Given the description of an element on the screen output the (x, y) to click on. 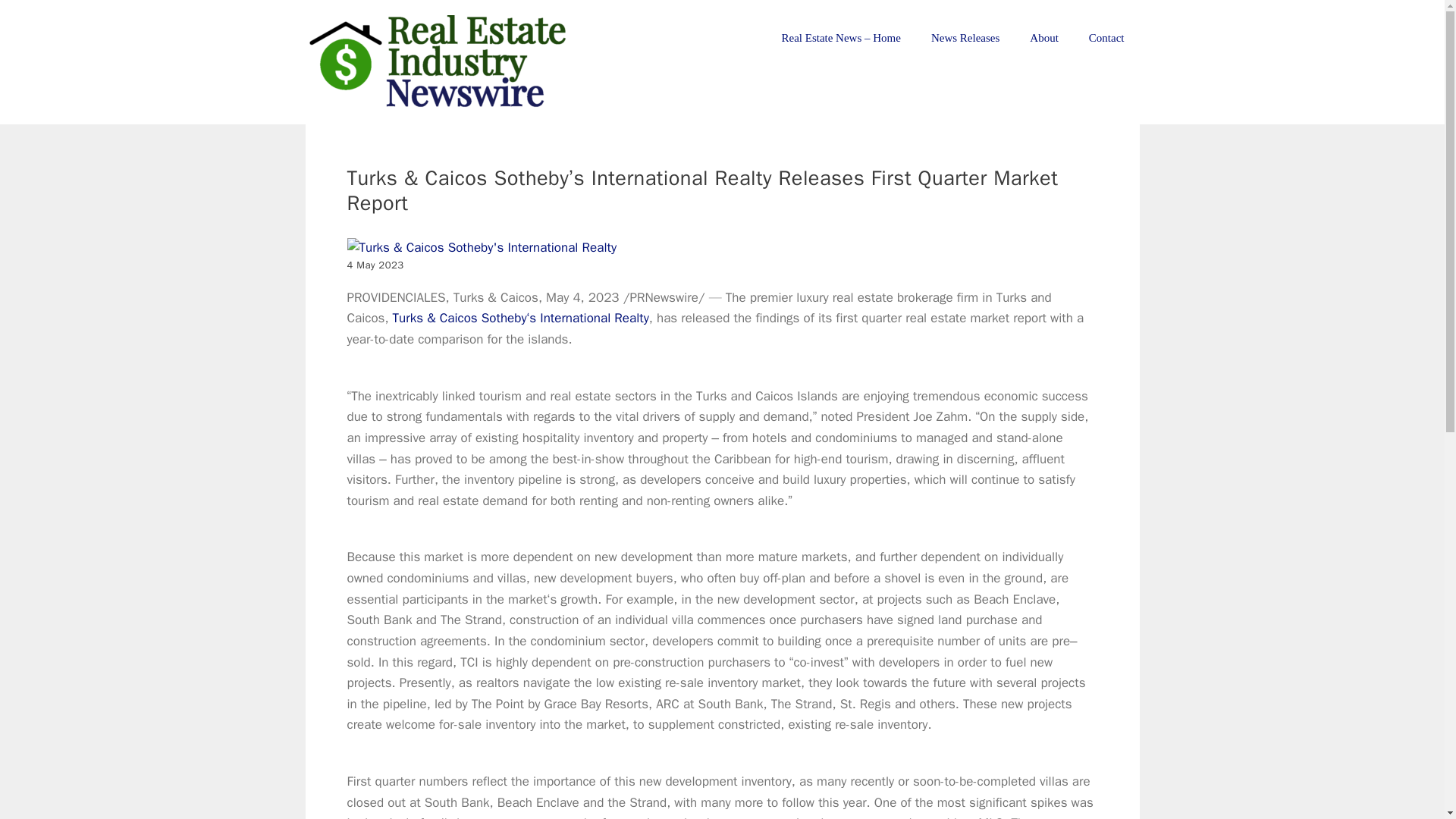
Contact (1107, 37)
News Releases (964, 37)
About (1044, 37)
